Given the description of an element on the screen output the (x, y) to click on. 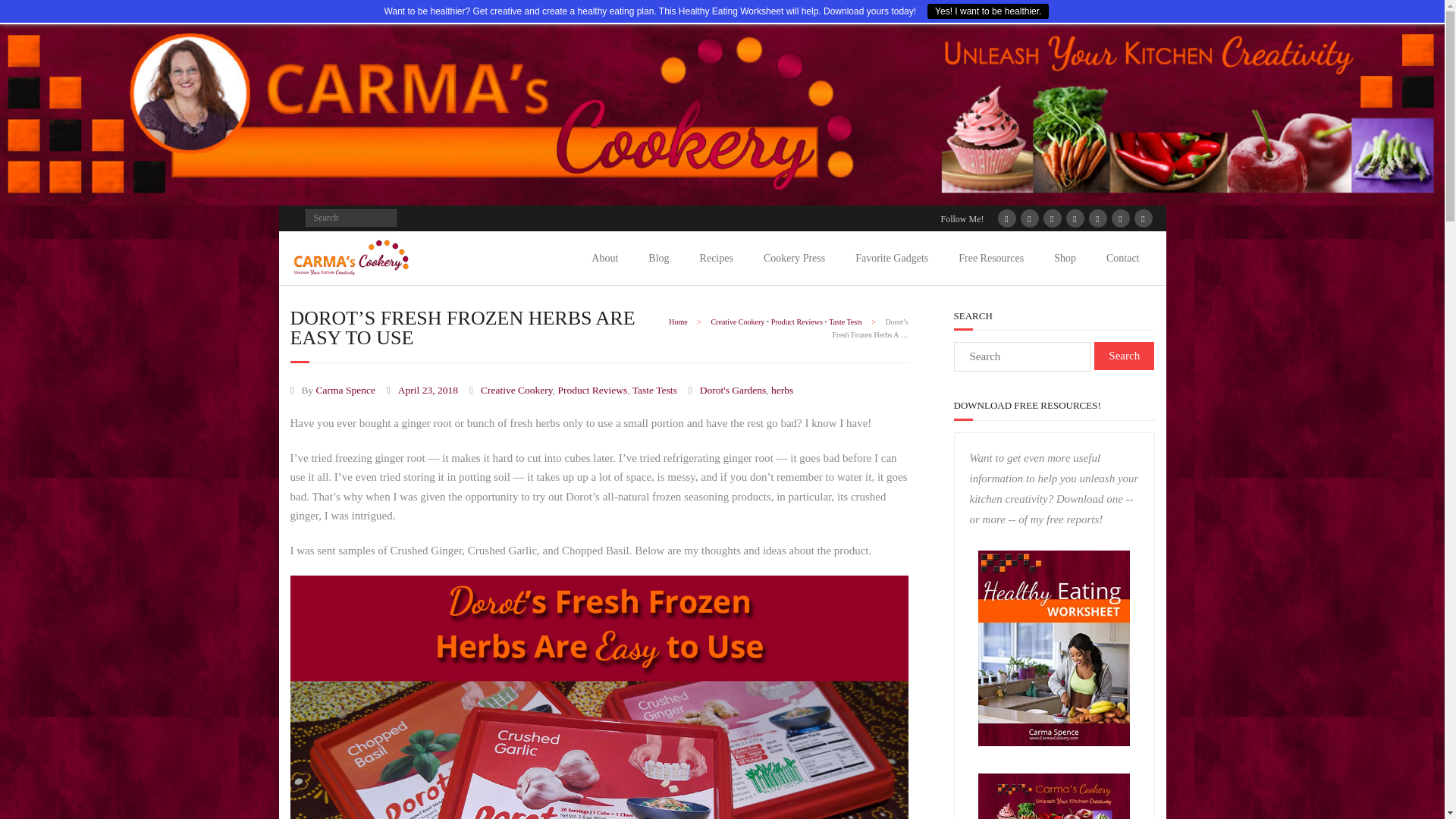
View all posts by Carma Spence (345, 389)
Search (1124, 356)
About (604, 257)
Search (24, 13)
Blog (658, 257)
Search (1124, 356)
Free Resources (991, 257)
Favorite Gadgets (891, 257)
Recipes (716, 257)
Yes! I want to be healthier. (987, 10)
